Given the description of an element on the screen output the (x, y) to click on. 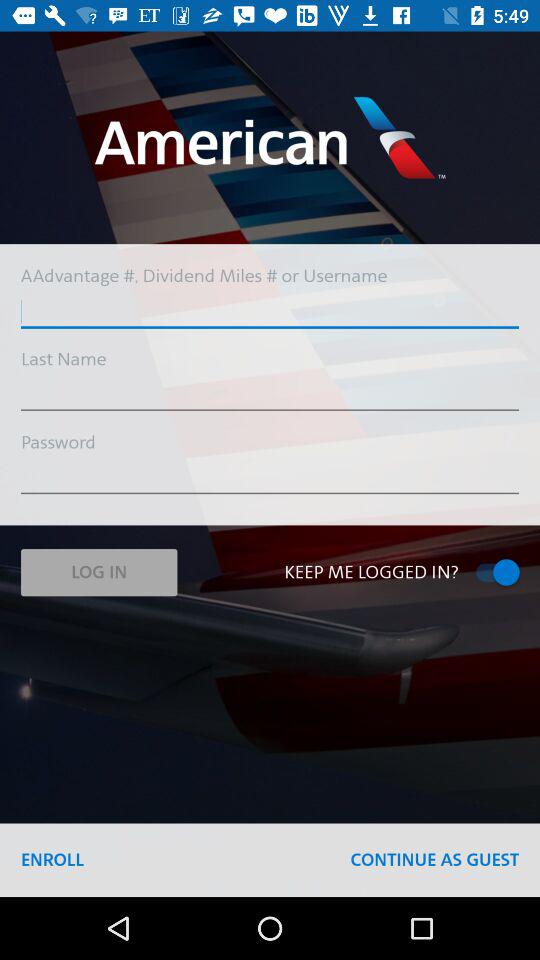
turn off the icon above the password (269, 395)
